Given the description of an element on the screen output the (x, y) to click on. 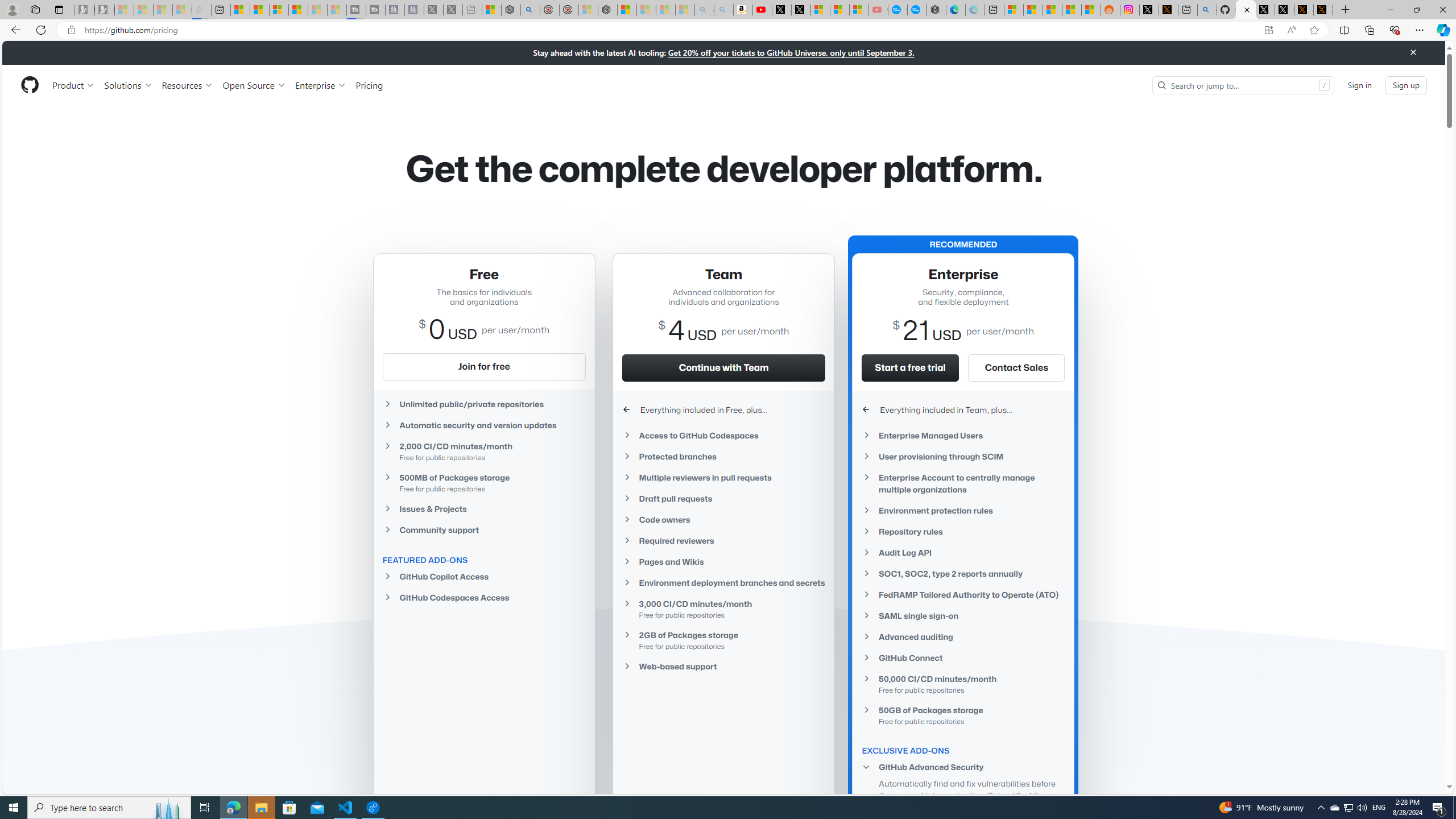
FedRAMP Tailored Authority to Operate (ATO) (963, 594)
Solutions (128, 84)
Audit Log API (963, 552)
Pages and Wikis (723, 561)
App available. Install GitHub (1268, 29)
Community support (483, 529)
Start a free trial (910, 367)
Unlimited public/private repositories (483, 404)
